Given the description of an element on the screen output the (x, y) to click on. 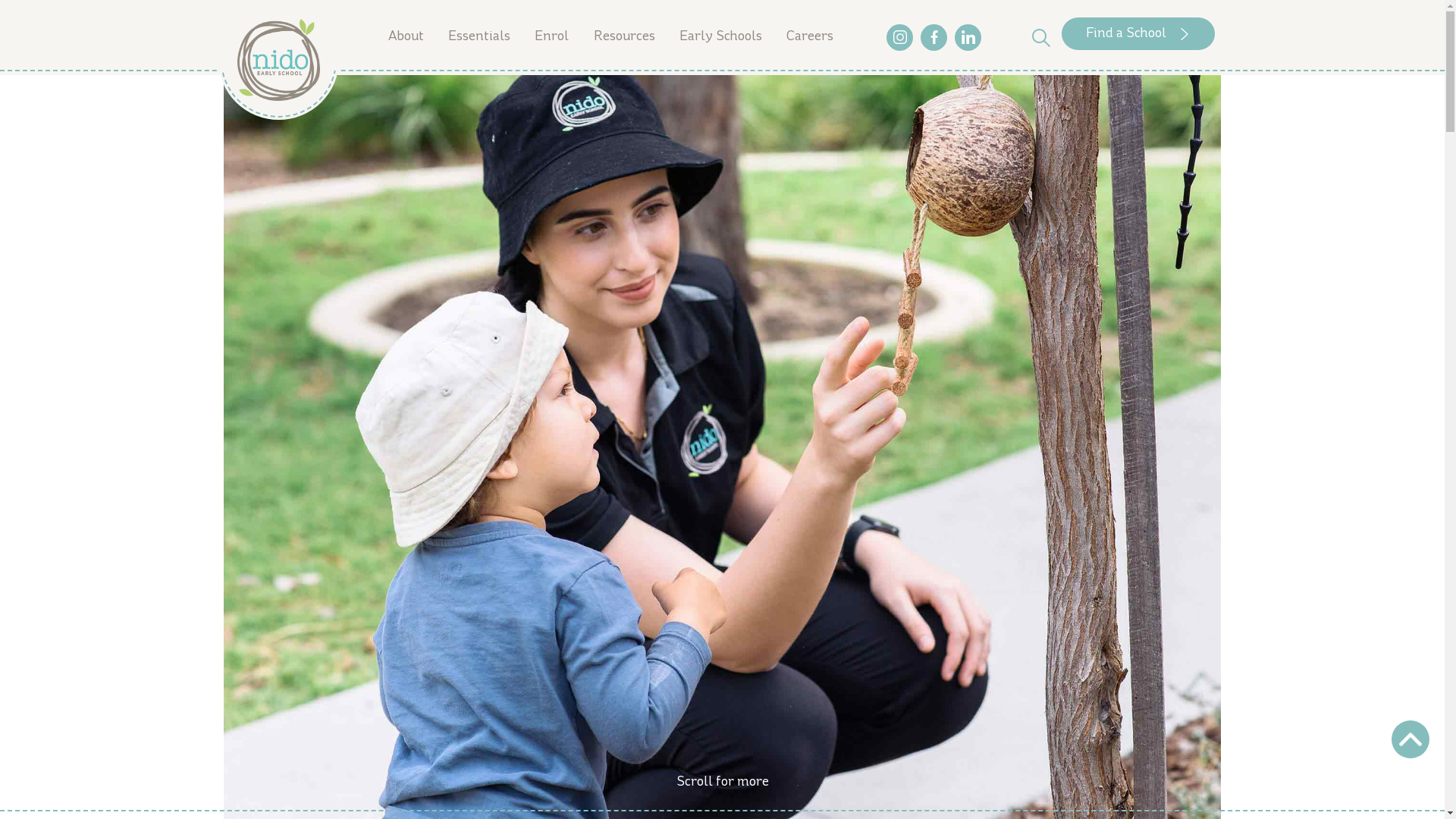
Resources Element type: text (623, 37)
Find a School Element type: text (1137, 33)
Scroll for more Element type: text (722, 789)
Early Schools Element type: text (720, 37)
About Element type: text (405, 37)
Enrol Element type: text (551, 37)
Scroll Element type: text (1410, 739)
Essentials Element type: text (479, 37)
Careers Element type: text (809, 37)
